Given the description of an element on the screen output the (x, y) to click on. 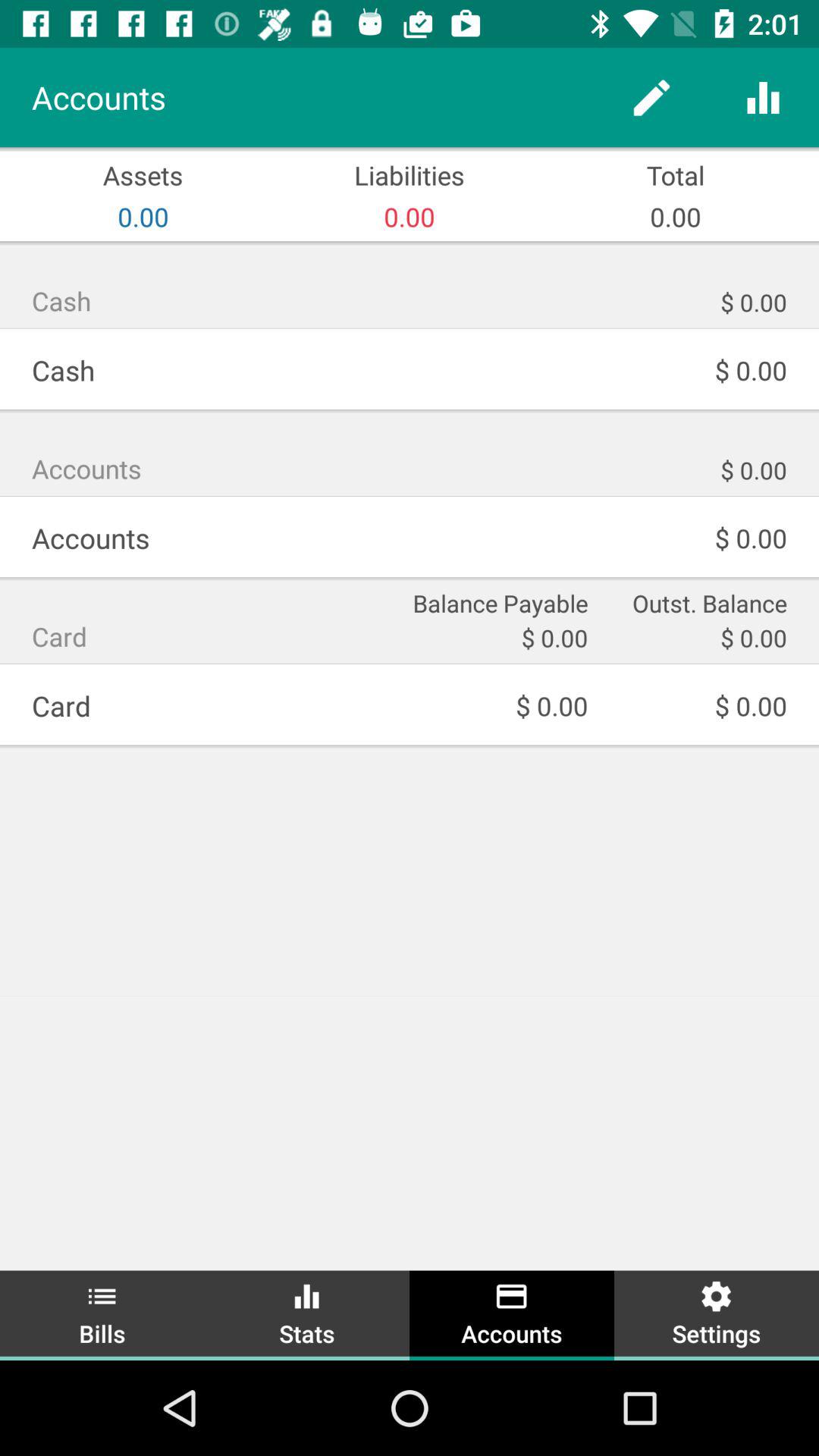
turn on item next to stats (102, 1313)
